Given the description of an element on the screen output the (x, y) to click on. 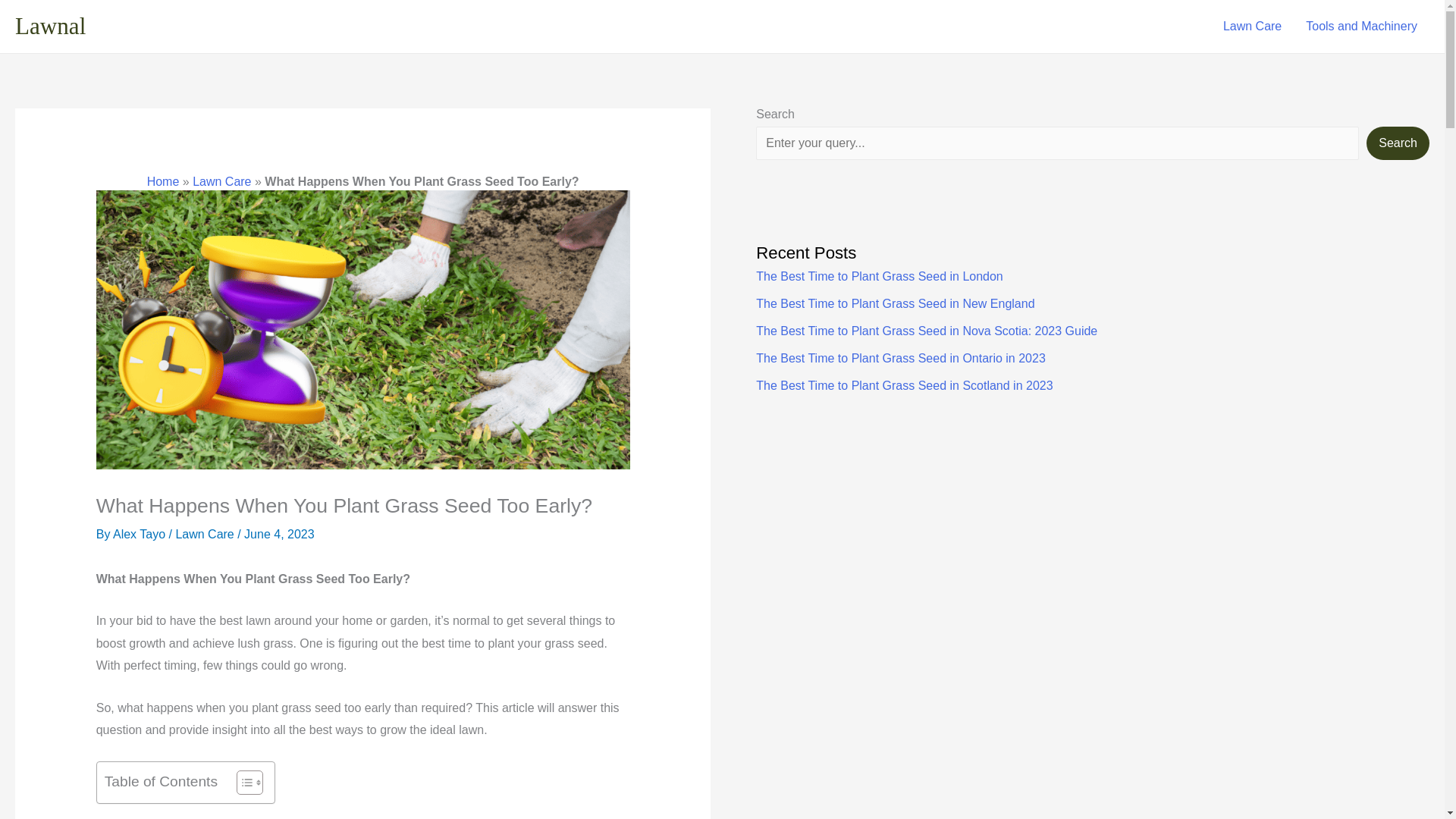
View all posts by Alex Tayo (140, 533)
Lawn Care (1252, 26)
Alex Tayo (140, 533)
Home (163, 181)
Lawn Care (203, 533)
Tools and Machinery (1361, 26)
Lawnal (49, 26)
Lawn Care (221, 181)
